Given the description of an element on the screen output the (x, y) to click on. 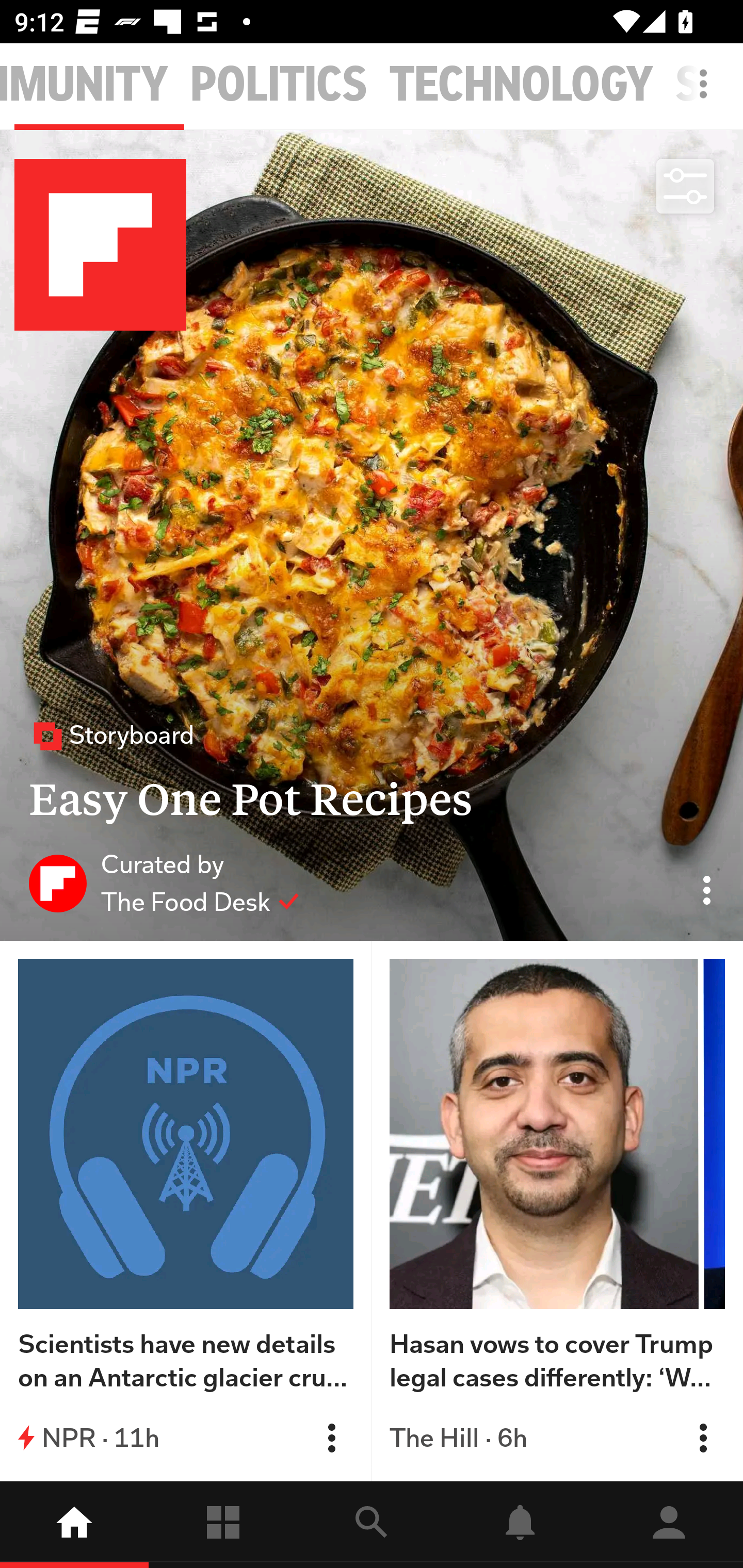
COMMUNITY (84, 84)
POLITICS (278, 84)
TECHNOLOGY (521, 84)
More options (706, 93)
Curated by The Food Desk (163, 882)
NPR · 11h Flip into Magazine (185, 1437)
The Hill · 6h Flip into Magazine (557, 1437)
Flip into Magazine (331, 1437)
Flip into Magazine (703, 1437)
home (74, 1524)
Following (222, 1524)
explore (371, 1524)
Notifications (519, 1524)
Profile (668, 1524)
